Given the description of an element on the screen output the (x, y) to click on. 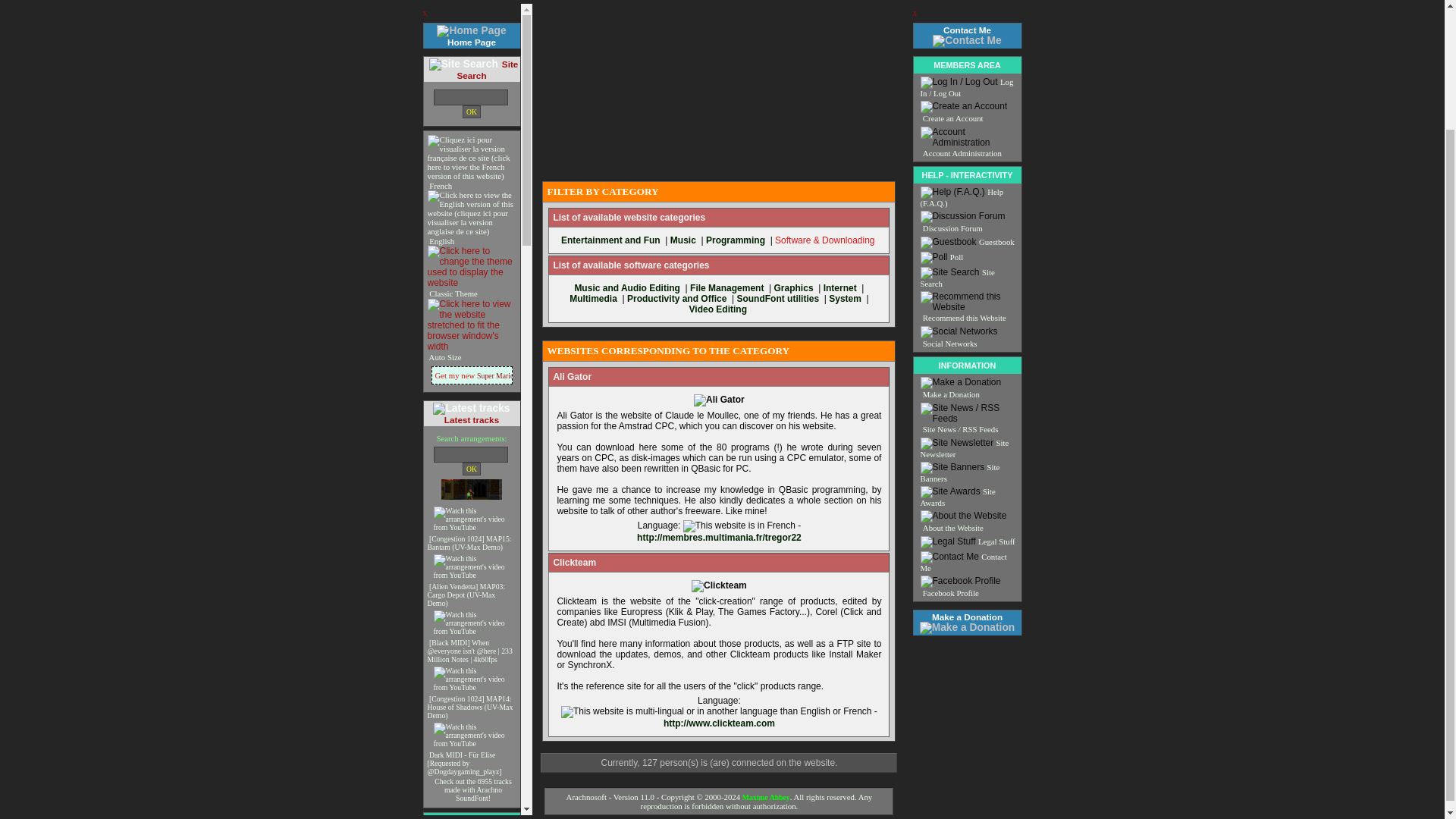
Watch this arrangement's video from YouTube (474, 373)
Watch this arrangement's video from YouTube (474, 478)
 Auto Size (444, 212)
Watch this arrangement's video from YouTube (471, 344)
Watch this arrangement's video from YouTube (474, 534)
Online Documentation (470, 757)
Check out the 6955 tracks made with Arachno SoundFont! (472, 644)
OK (471, 323)
Watch this arrangement's video from YouTube (474, 421)
